Given the description of an element on the screen output the (x, y) to click on. 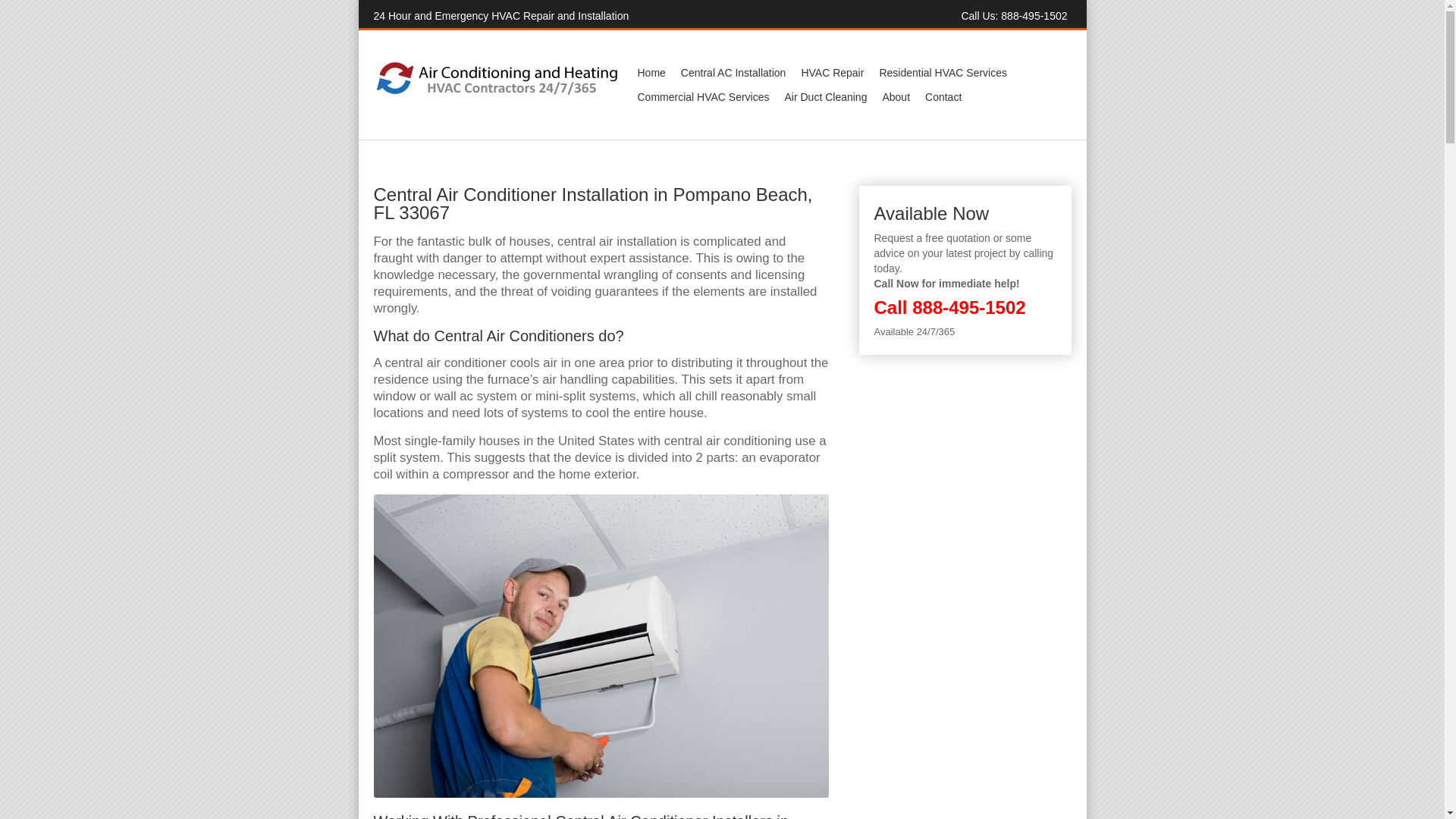
Residential HVAC Services (942, 72)
Contact (943, 96)
HVAC Repair (831, 72)
Central AC Installation (733, 72)
Commercial HVAC Services (702, 96)
Air Duct Cleaning (824, 96)
888-495-1502 (968, 307)
Home (650, 72)
888-495-1502 (1034, 15)
About (895, 96)
